Given the description of an element on the screen output the (x, y) to click on. 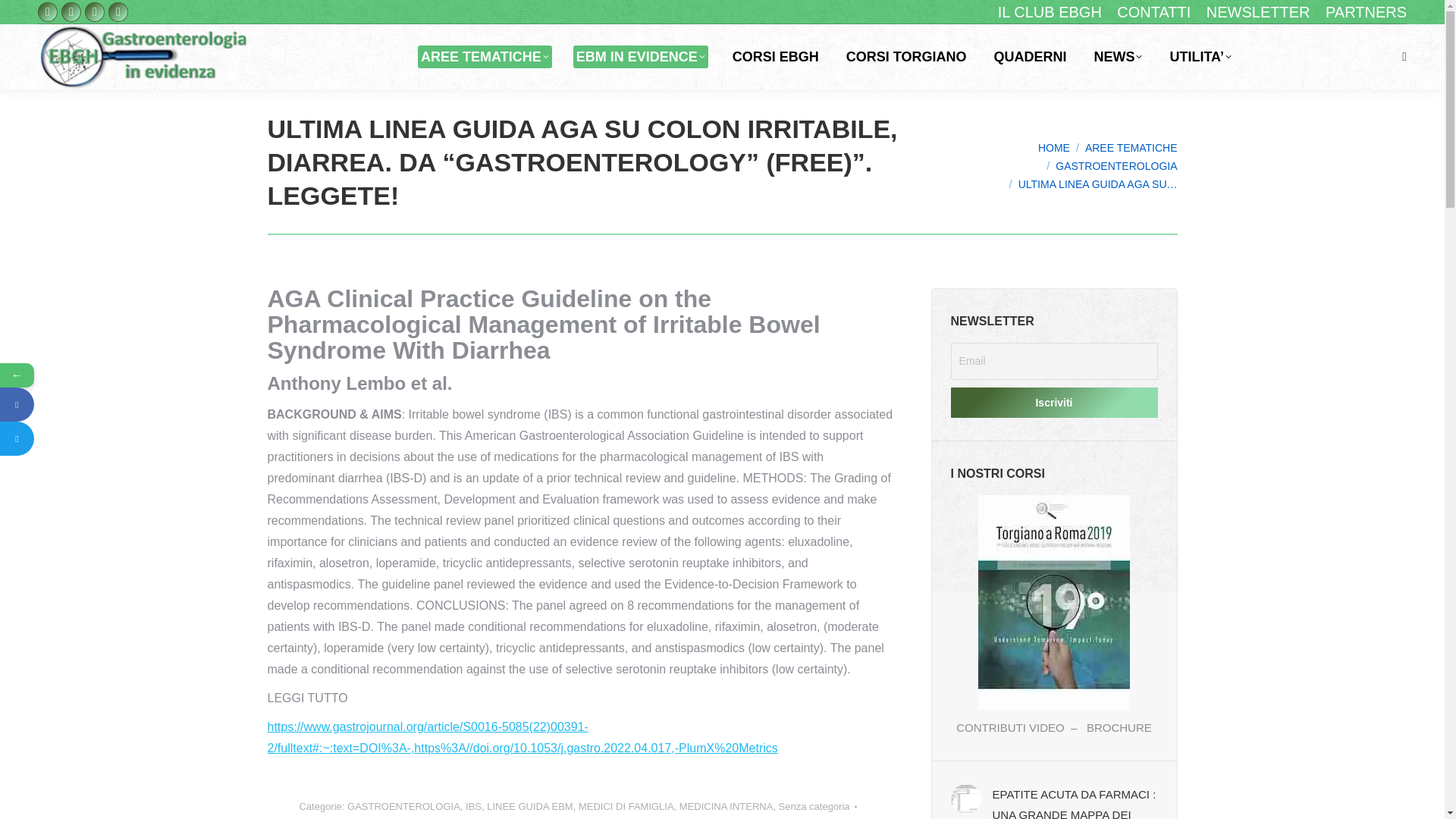
YouTube page opens in new window (94, 12)
Iscriviti (1053, 402)
Facebook page opens in new window (47, 12)
CONTATTI (1153, 12)
Facebook page opens in new window (47, 12)
NEWSLETTER (1258, 12)
YouTube page opens in new window (94, 12)
AREE TEMATICHE (484, 56)
IL CLUB EBGH (1049, 12)
PARTNERS (1365, 12)
